Given the description of an element on the screen output the (x, y) to click on. 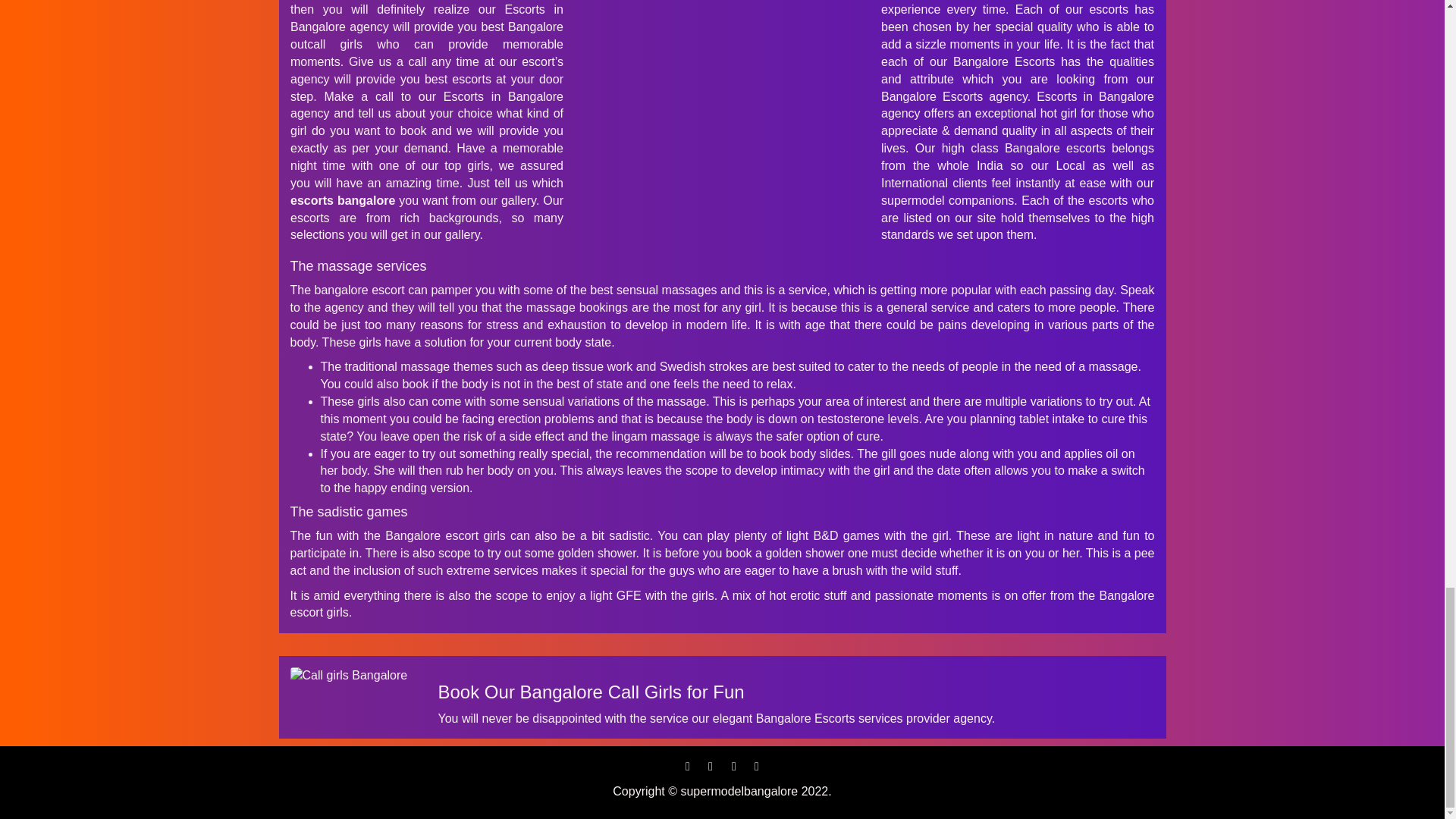
Bangalore escorts (351, 675)
